Given the description of an element on the screen output the (x, y) to click on. 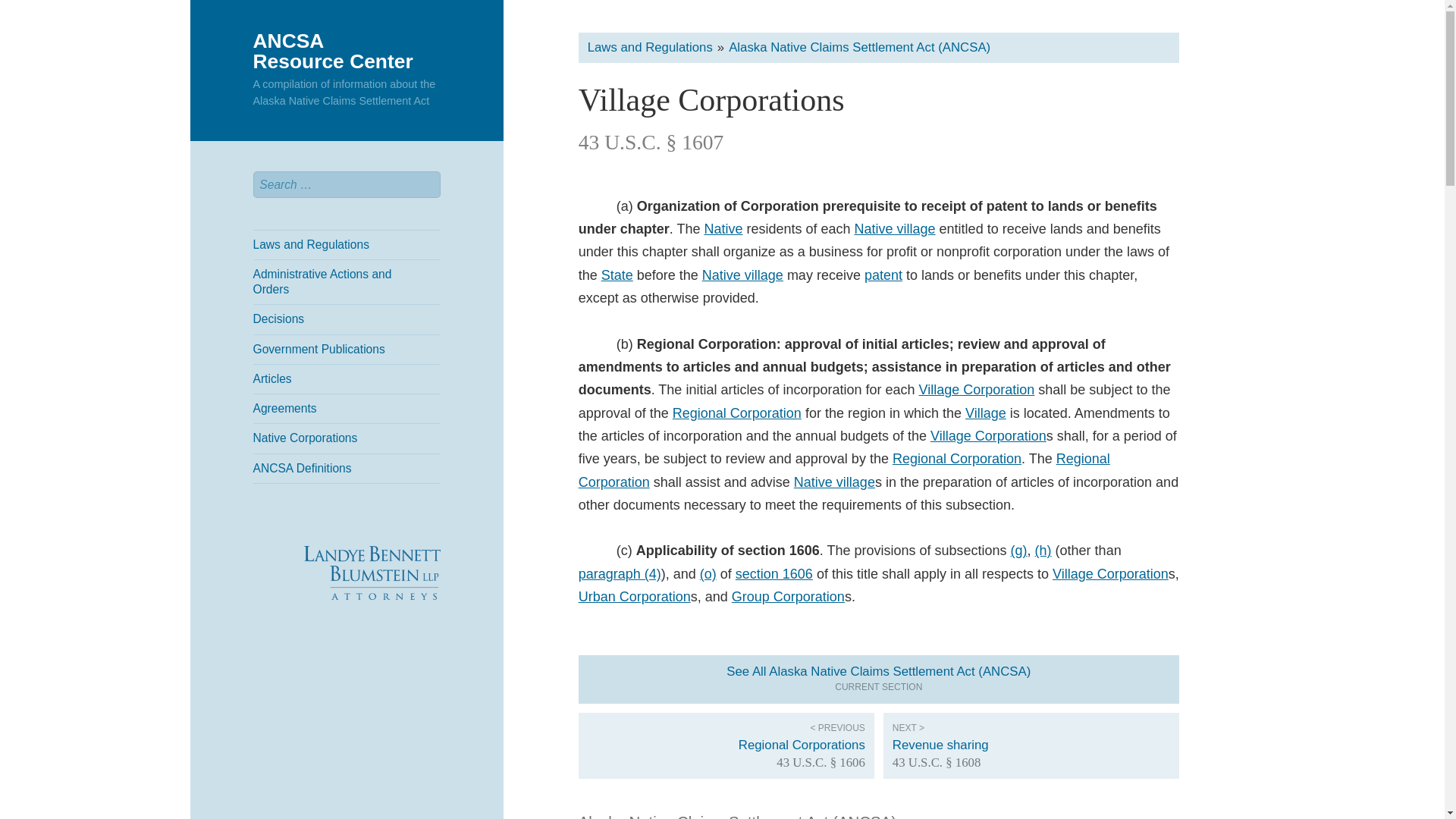
patent (883, 274)
Articles (347, 378)
Laws and Regulations (650, 47)
Laws and Regulations (347, 244)
Village Corporation (976, 389)
Agreements (347, 408)
Regional Corporation (737, 412)
Native (722, 228)
Native village (742, 274)
ANCSA Definitions (333, 50)
Government Publications (347, 468)
Revenue sharing (347, 348)
Search (1031, 745)
